Given the description of an element on the screen output the (x, y) to click on. 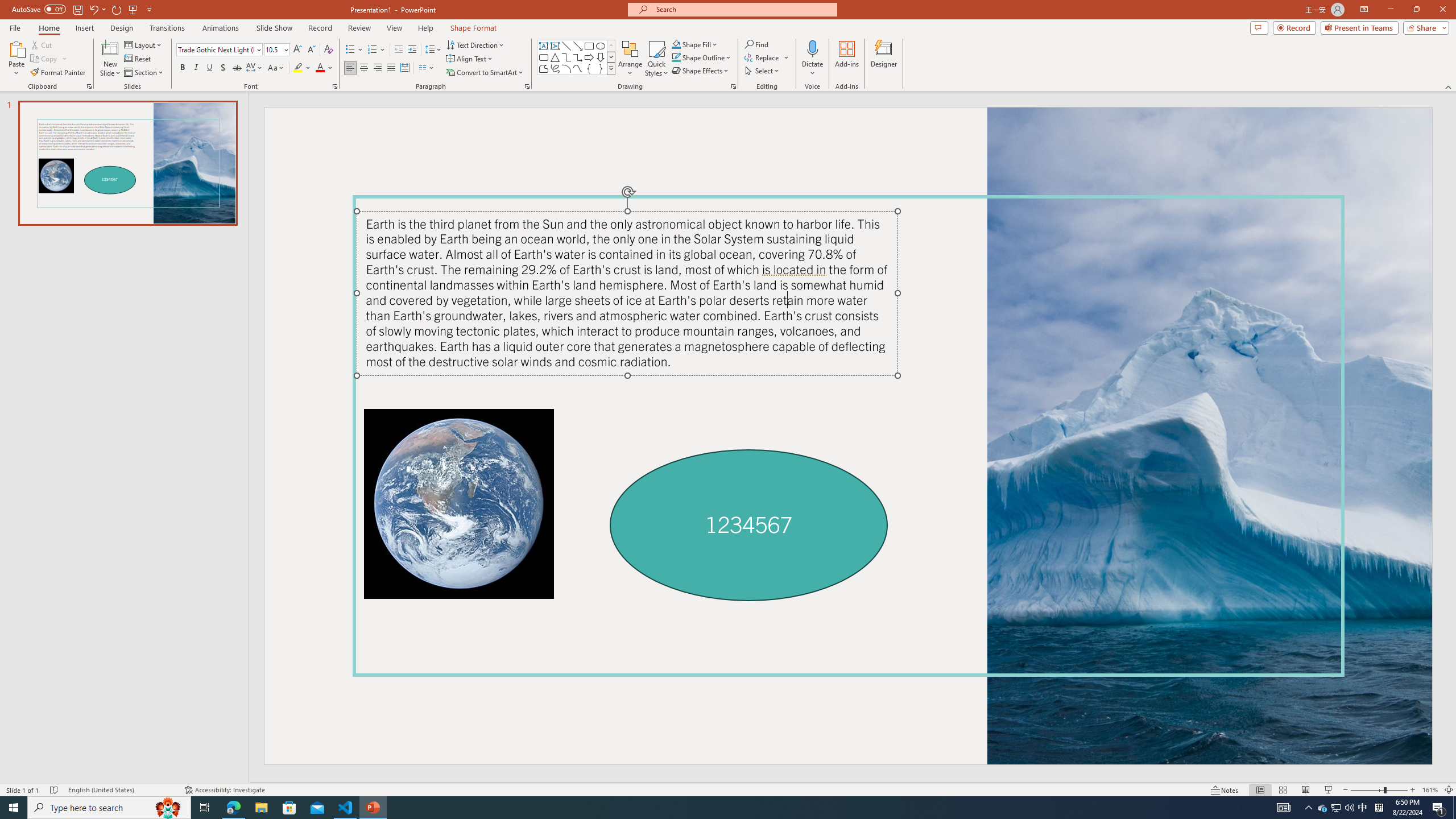
Class: NetUIAnchor (995, 274)
Class: NetUIComboboxAnchor (852, 266)
Shape Outline Teal, Accent 1 (675, 56)
Zoom 161% (1430, 790)
New Comment (933, 274)
